Given the description of an element on the screen output the (x, y) to click on. 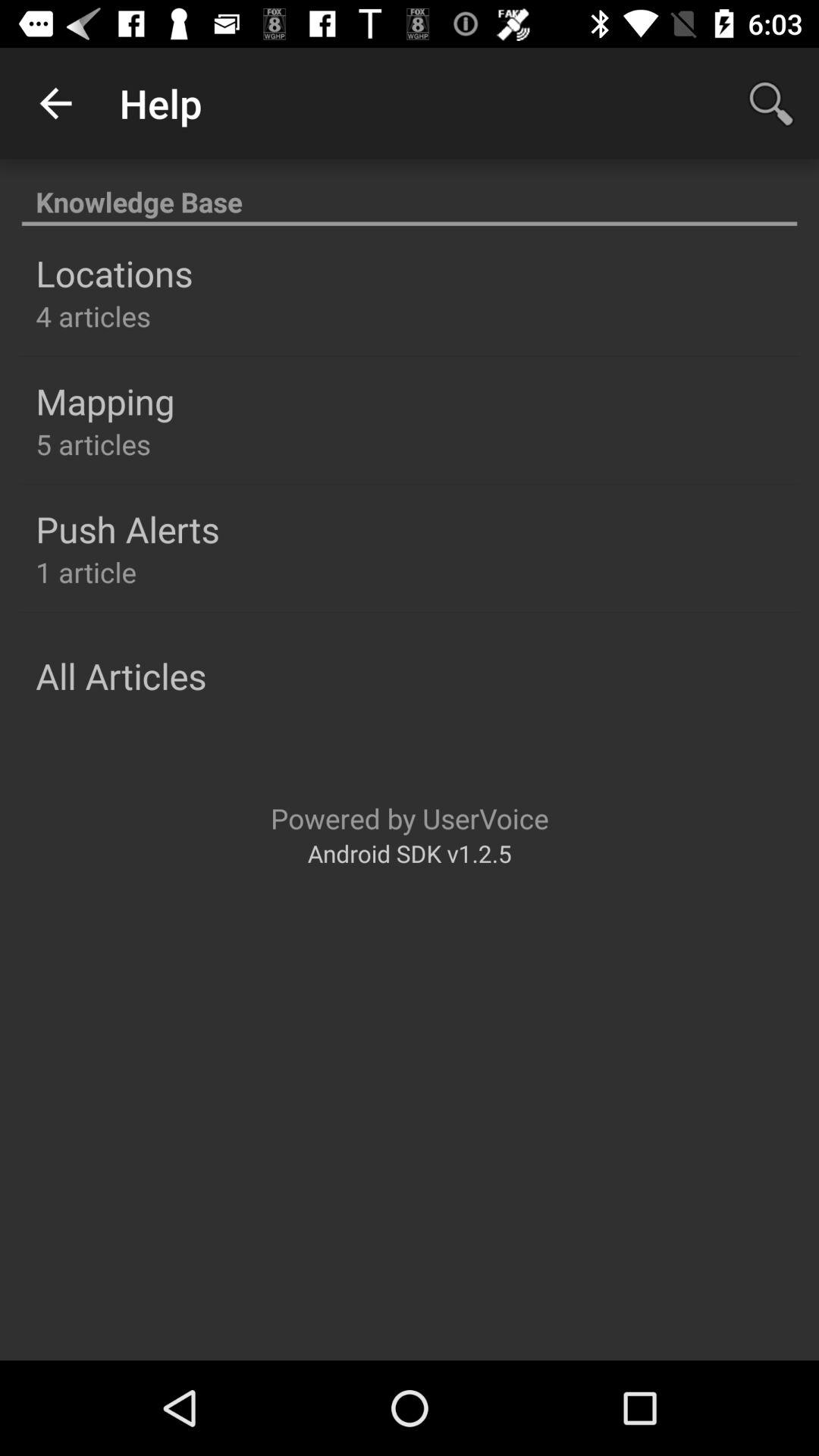
swipe to android sdk v1 item (409, 853)
